Given the description of an element on the screen output the (x, y) to click on. 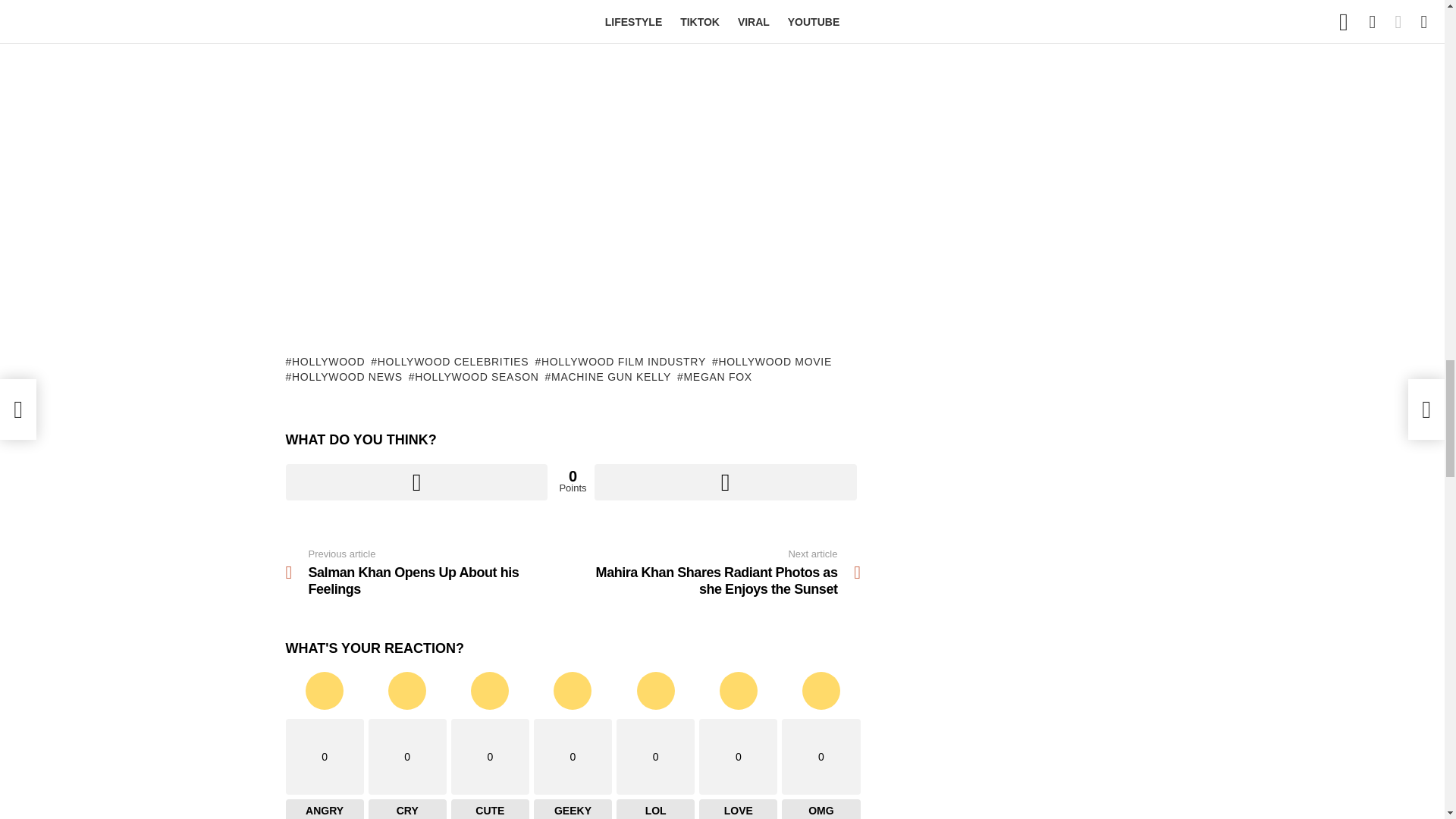
HOLLYWOOD MOVIE (771, 361)
HOLLYWOOD (325, 361)
HOLLYWOOD SEASON (473, 376)
Downvote (725, 482)
HOLLYWOOD FILM INDUSTRY (620, 361)
Downvote (725, 482)
HOLLYWOOD NEWS (343, 376)
MACHINE GUN KELLY (607, 376)
Upvote (416, 482)
